Given the description of an element on the screen output the (x, y) to click on. 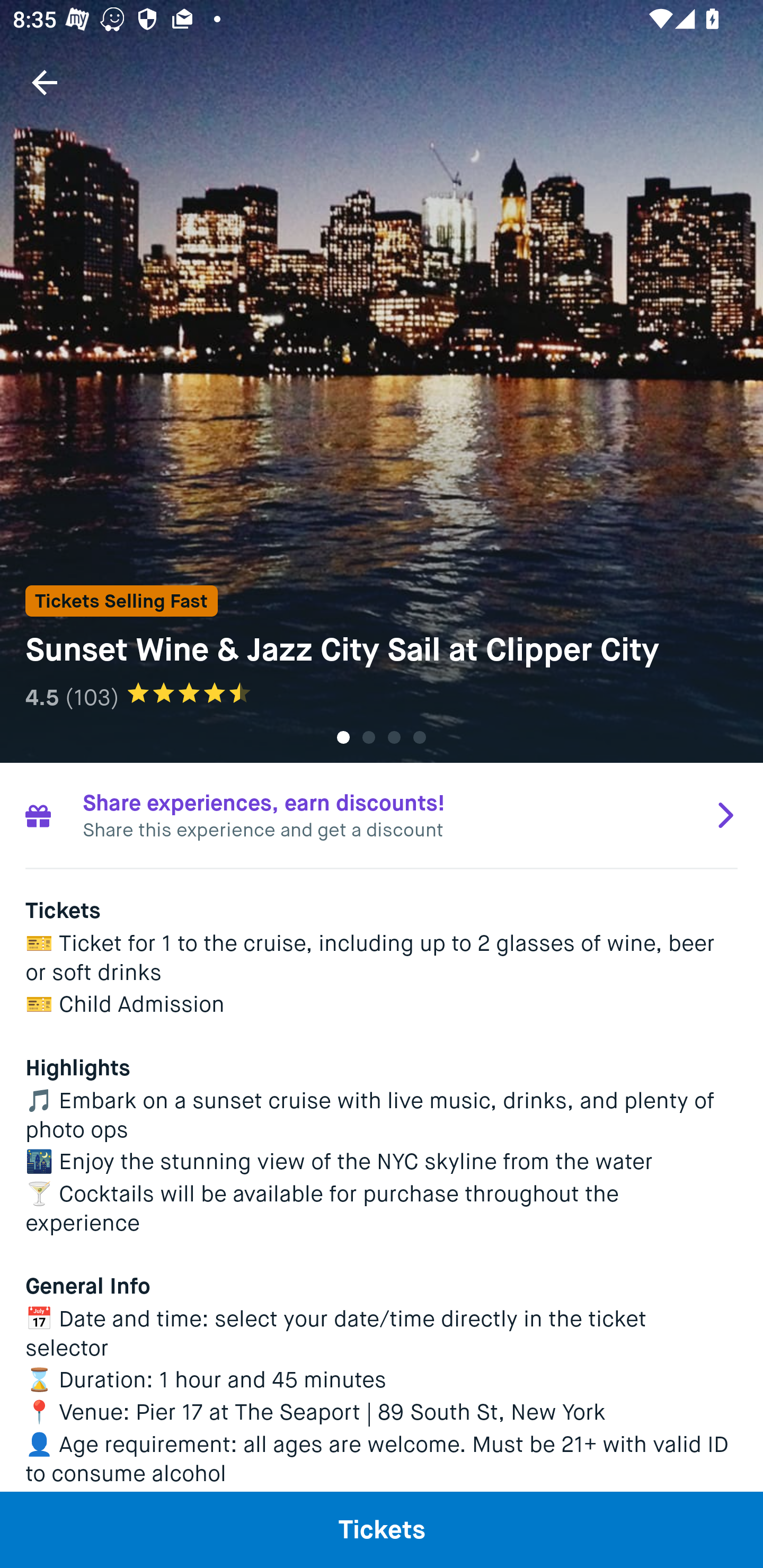
Navigate up (44, 82)
(103) (91, 697)
Tickets (381, 1529)
